Given the description of an element on the screen output the (x, y) to click on. 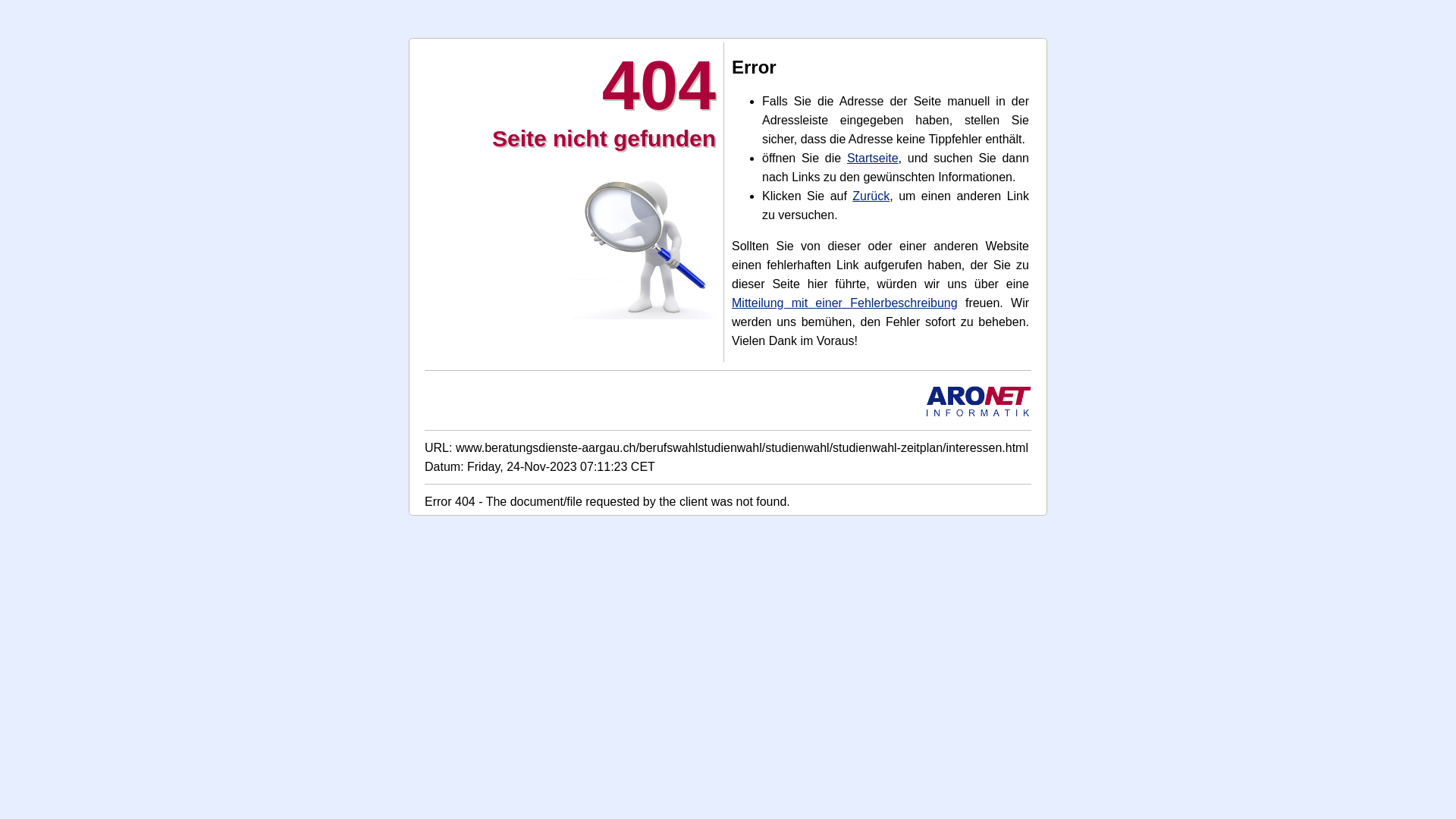
Mitteilung mit einer Fehlerbeschreibung Element type: text (844, 302)
Startseite Element type: text (872, 157)
